Given the description of an element on the screen output the (x, y) to click on. 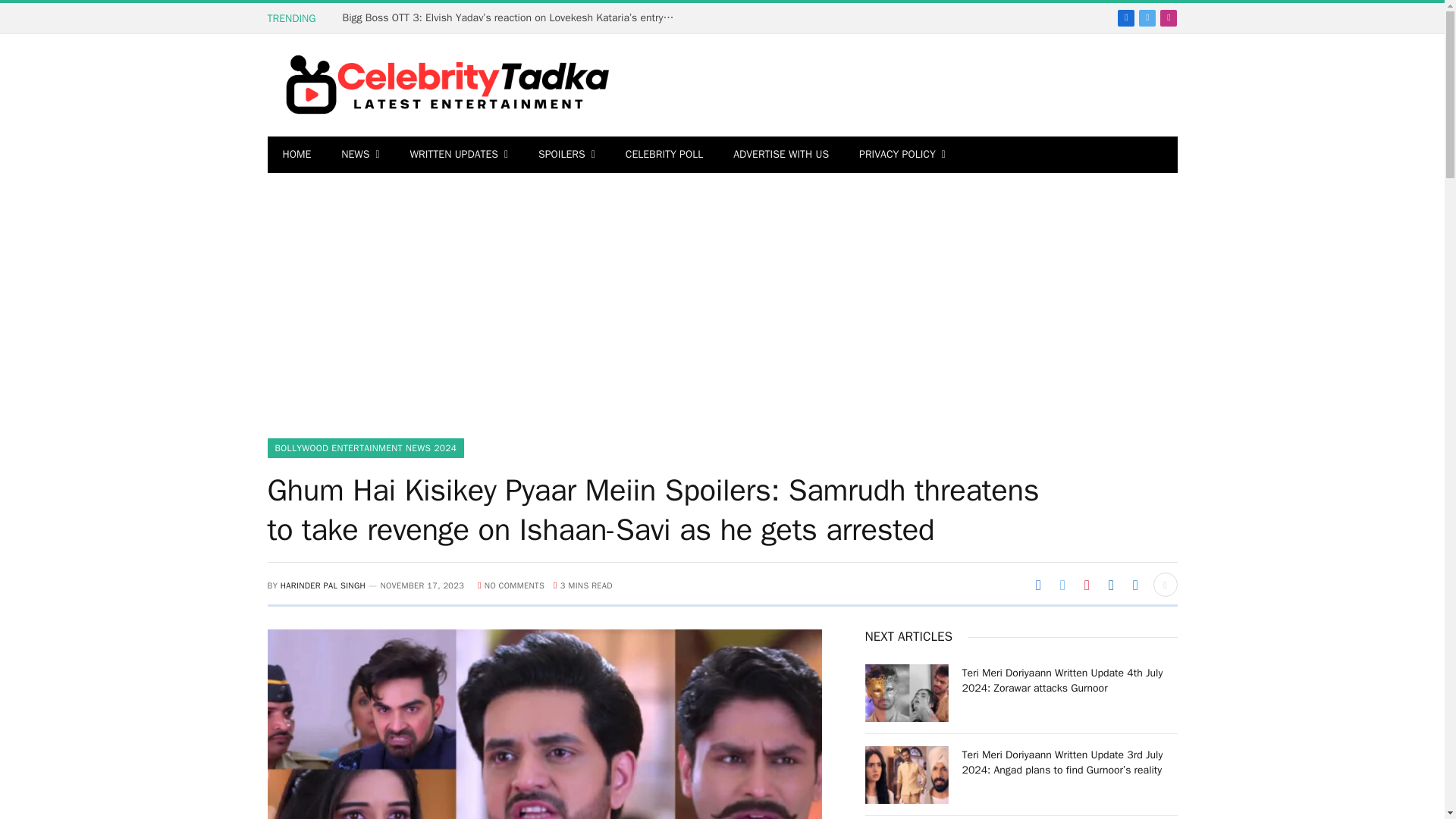
Share on Pinterest (1086, 584)
Posts by Harinder pal singh (323, 584)
Celebrity Tadka (439, 85)
Share on Facebook (1037, 584)
Share on Telegram (1135, 584)
Share on LinkedIn (1110, 584)
Show More Social Sharing (1164, 584)
